Given the description of an element on the screen output the (x, y) to click on. 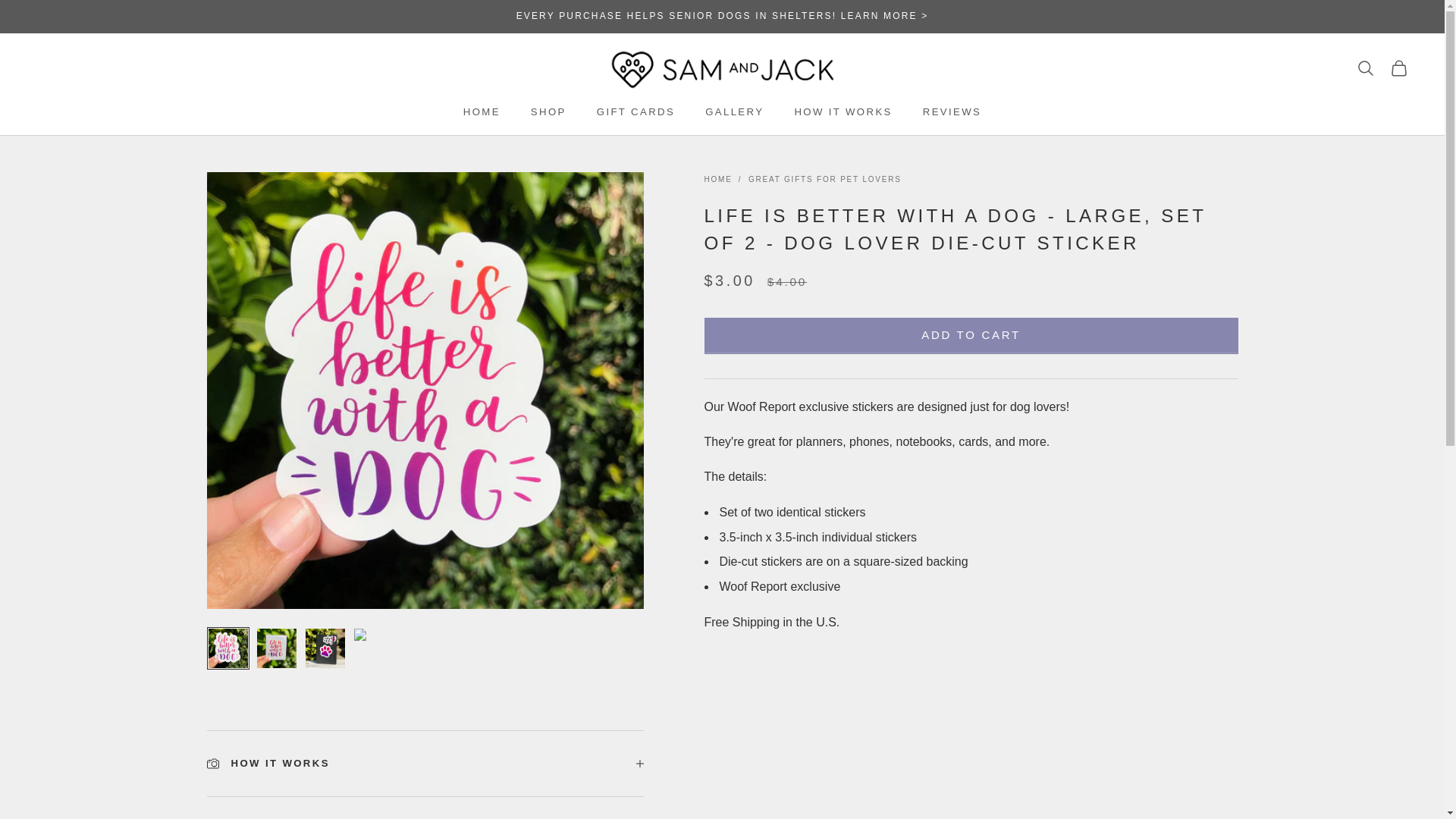
Sam and Jack (721, 68)
ADD TO CART (424, 774)
GREAT GIFTS FOR PET LOVERS (970, 335)
HOME (824, 179)
GIFT CARDS (481, 112)
Open search (635, 112)
Open cart (1365, 67)
HOW IT WORKS (1398, 67)
GALLERY (842, 112)
HOME (733, 112)
REVIEWS (717, 179)
